Given the description of an element on the screen output the (x, y) to click on. 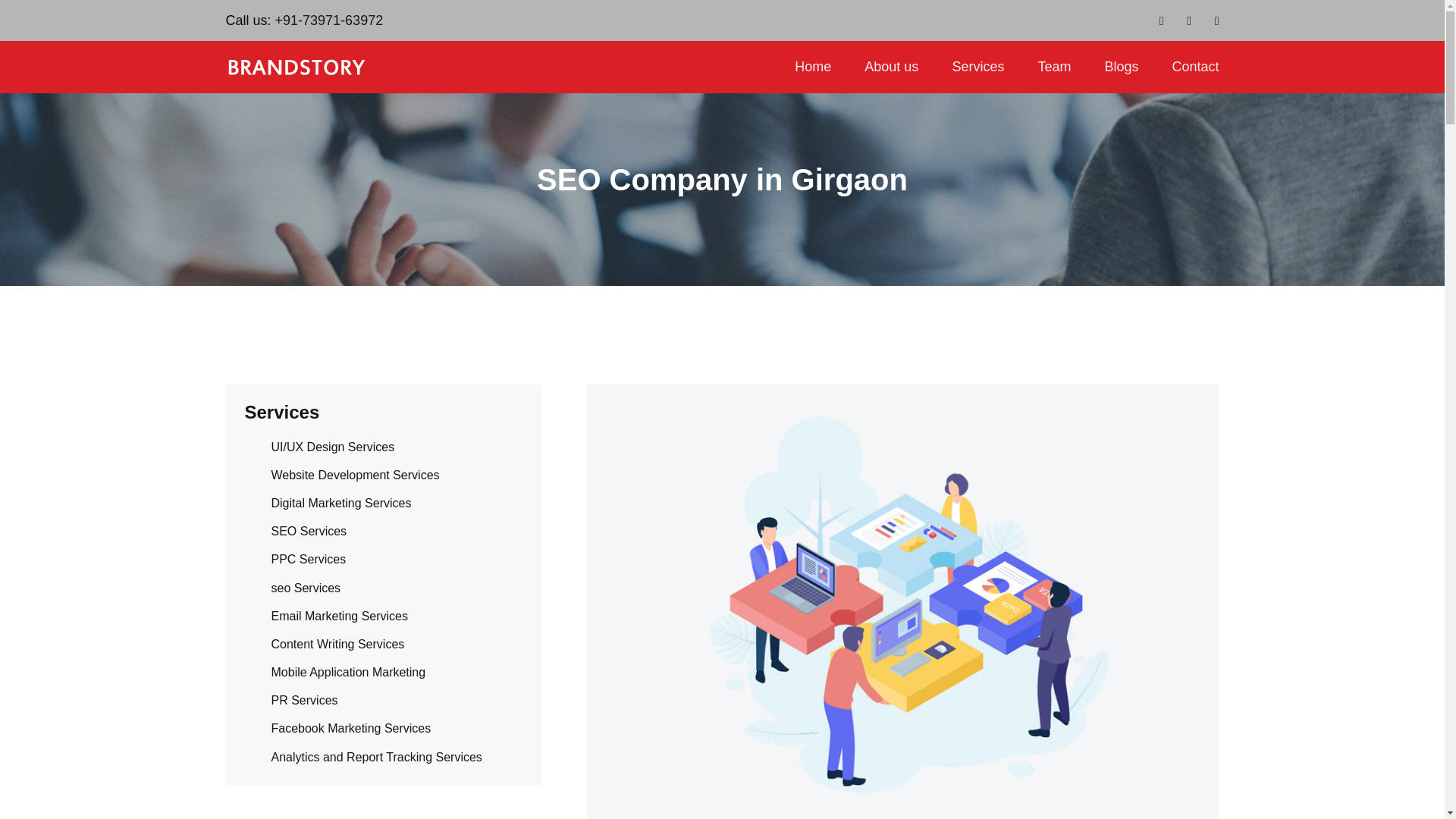
Contact (1186, 66)
Home (812, 66)
About us (890, 66)
Services (977, 66)
Team (1053, 66)
Blogs (1120, 66)
